Given the description of an element on the screen output the (x, y) to click on. 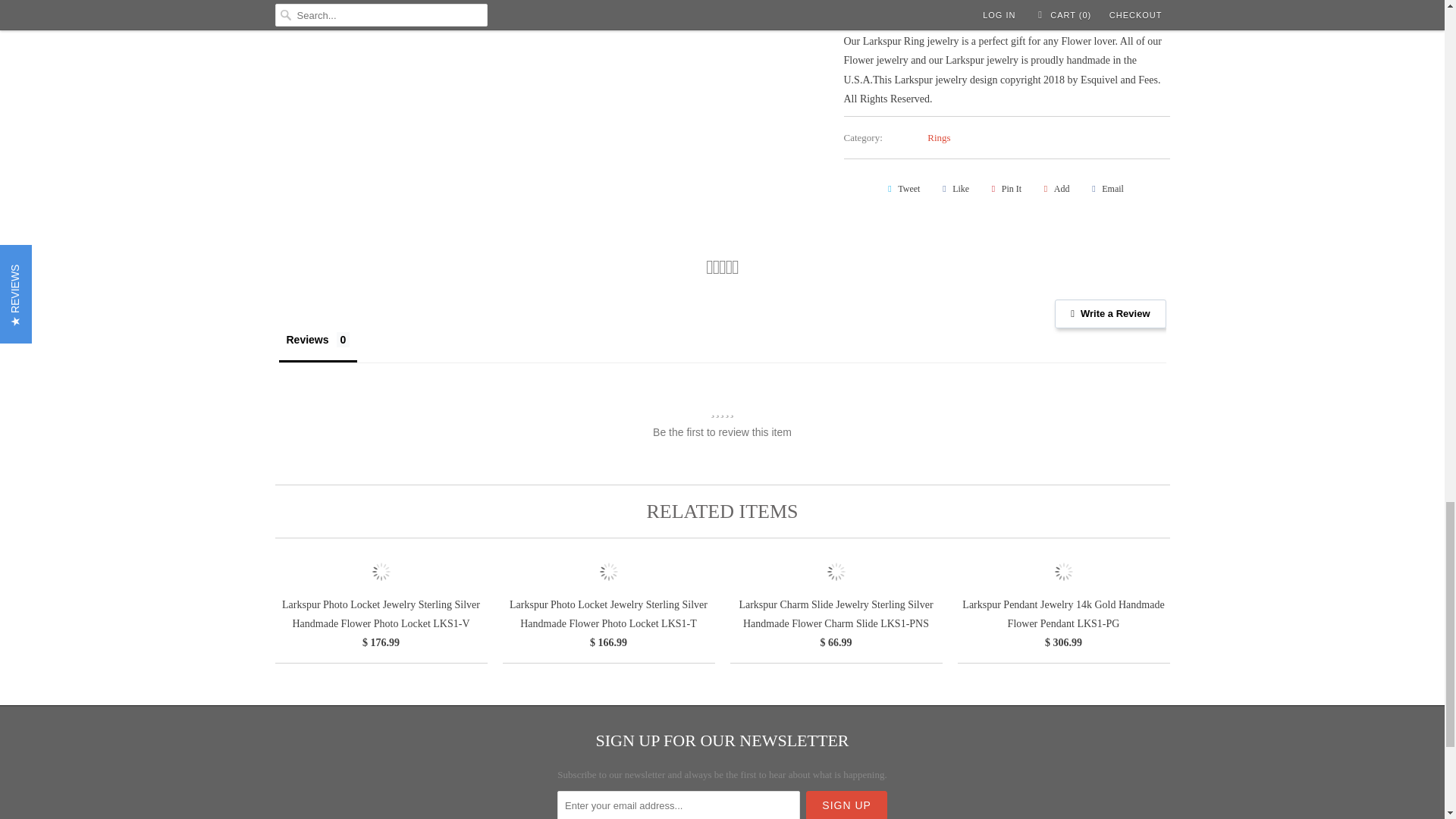
Sign Up (846, 805)
Products tagged Rings (938, 137)
Share this on Facebook (953, 188)
Share this on Pinterest (1004, 188)
Email this to a friend (1105, 188)
Share this on Twitter (901, 188)
